Given the description of an element on the screen output the (x, y) to click on. 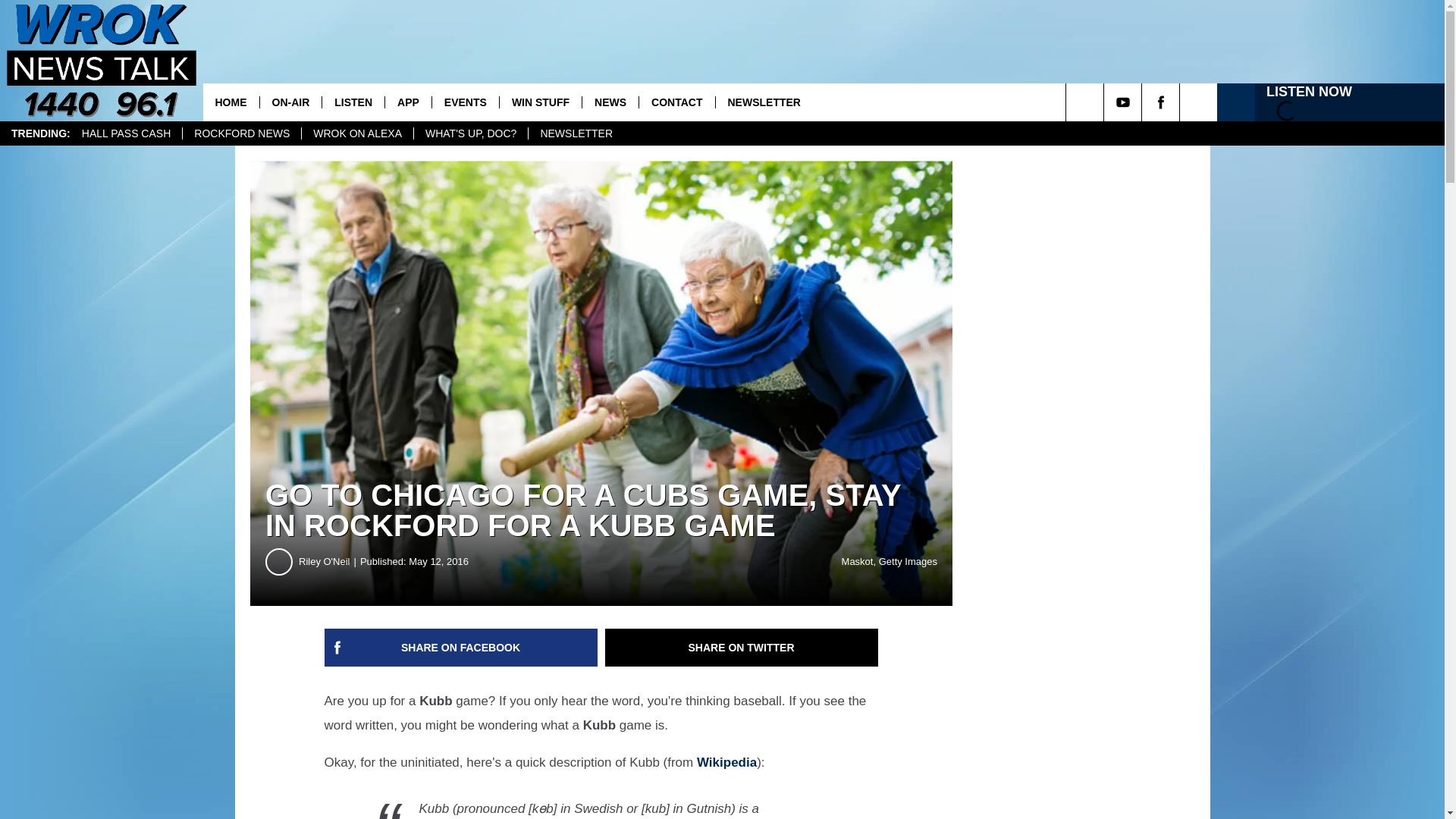
Share on Twitter (741, 647)
NEWSLETTER (763, 102)
WHAT'S UP, DOC? (470, 133)
HOME (231, 102)
Share on Facebook (460, 647)
NEWS (609, 102)
WROK ON ALEXA (357, 133)
WIN STUFF (539, 102)
APP (407, 102)
CONTACT (676, 102)
